Given the description of an element on the screen output the (x, y) to click on. 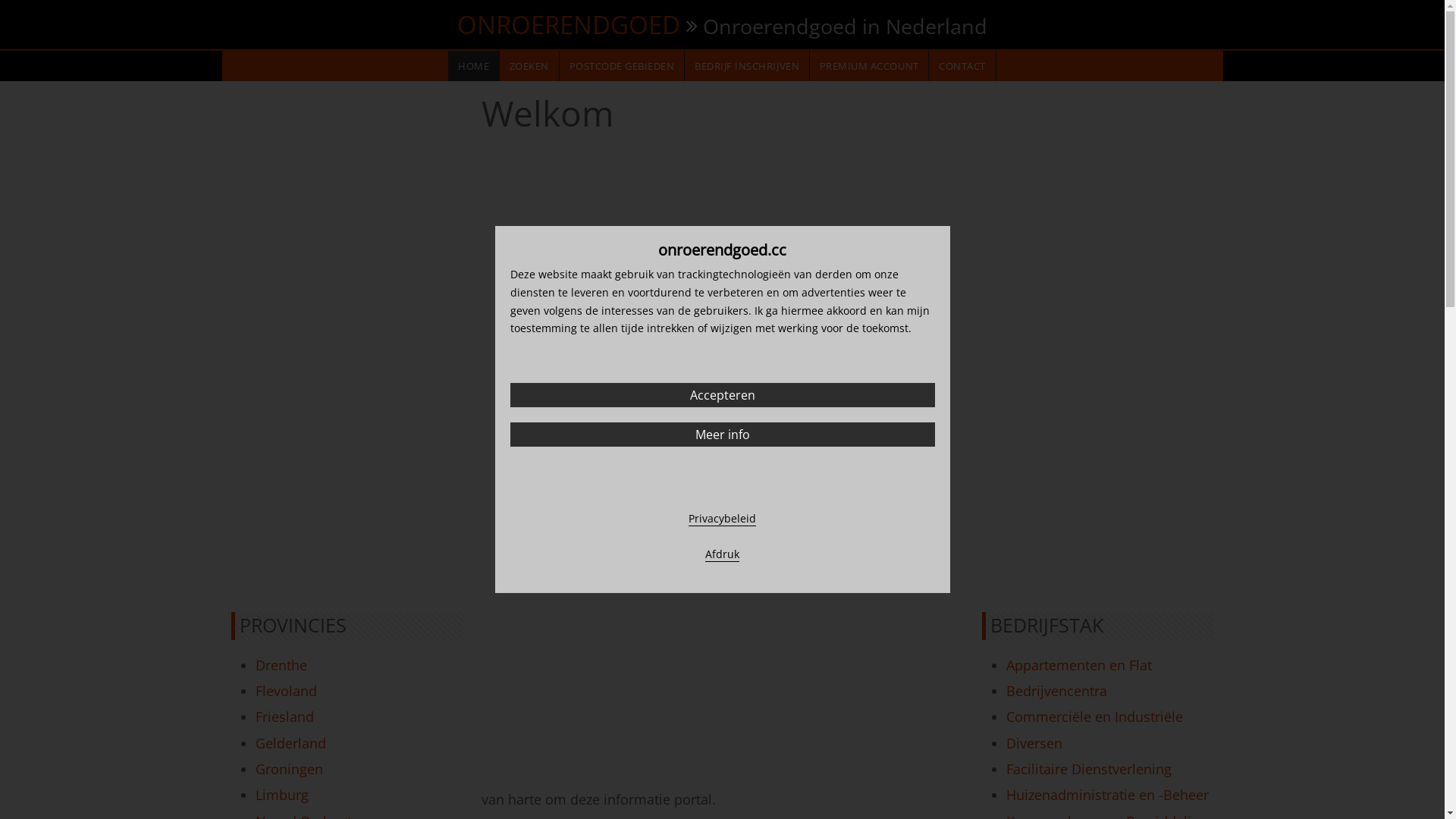
Bedrijvencentra Element type: text (1055, 690)
Friesland Element type: text (283, 716)
Huizenadministratie en -Beheer Element type: text (1106, 794)
Groningen Element type: text (288, 768)
Drenthe Element type: text (280, 664)
POSTCODE GEBIEDEN Element type: text (621, 65)
Gelderland Element type: text (289, 743)
ZOEKEN Element type: text (528, 65)
Afdruk Element type: text (722, 553)
Facilitaire Dienstverlening Element type: text (1087, 768)
BEDRIJF INSCHRIJVEN Element type: text (746, 65)
Limburg Element type: text (280, 794)
Flevoland Element type: text (285, 690)
Appartementen en Flat Element type: text (1078, 664)
HOME Element type: text (473, 65)
PREMIUM ACCOUNT Element type: text (868, 65)
Overslaan en naar de inhoud gaan Element type: text (0, 0)
CONTACT Element type: text (961, 65)
Privacybeleid Element type: text (722, 518)
Diversen Element type: text (1033, 743)
ONROERENDGOED Element type: text (568, 23)
